Given the description of an element on the screen output the (x, y) to click on. 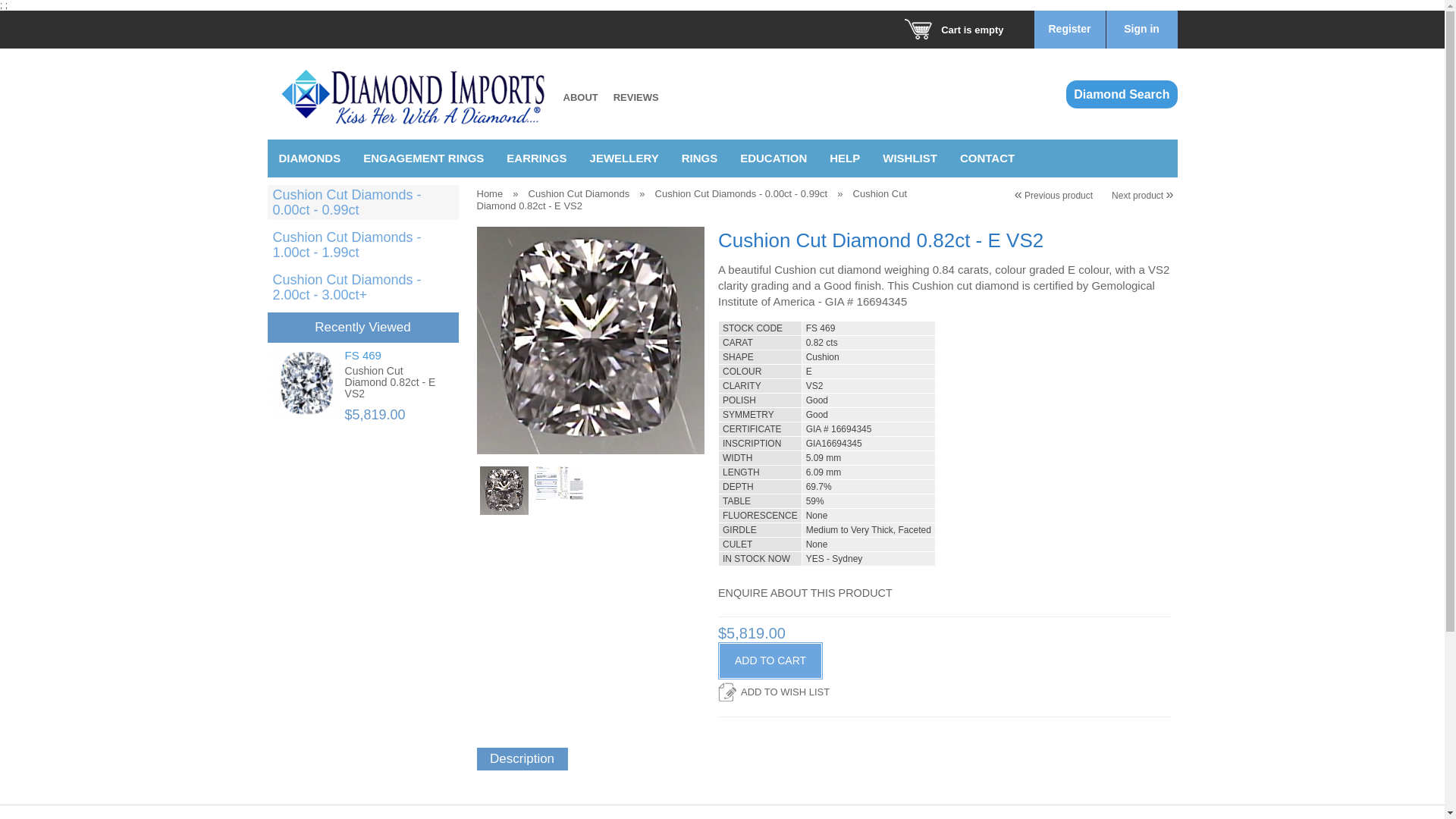
Cushion Cut Diamonds - 0.00ct - 0.99ct Element type: text (347, 202)
JEWELLERY Element type: text (624, 158)
ENGAGEMENT RINGS Element type: text (423, 158)
ADD TO WISH LIST Element type: text (773, 691)
Cushion Cut Diamond 0.82ct E VS2 Element type: hover (503, 490)
HELP Element type: text (844, 158)
Cushion Cut Diamonds - 2.00ct - 3.00ct+ Element type: text (347, 287)
Cushion Cut Diamond 0.82ct E VS2 Element type: hover (557, 482)
ENQUIRE ABOUT THIS PRODUCT Element type: text (805, 601)
WISHLIST Element type: text (909, 158)
Cushion Cut Diamonds - 0.00ct - 0.99ct Element type: text (741, 193)
Cushion Cut Diamonds Element type: text (579, 193)
RINGS Element type: text (699, 158)
ADD TO CART Element type: text (770, 660)
Cushion Cut Diamond 0.82ct - E VS2 Element type: hover (305, 383)
Cushion Cut Diamond 0.82ct E VS2 Element type: hover (557, 492)
ABOUT Element type: text (580, 98)
EARRINGS Element type: text (536, 158)
EDUCATION Element type: text (773, 158)
CONTACT Element type: text (987, 158)
Cushion Cut Diamond 0.82ct - E VS2 Element type: text (390, 381)
Sign in Element type: text (1141, 28)
REVIEWS Element type: text (635, 98)
Cushion Cut Diamond 0.82ct E VS2 Element type: hover (503, 492)
Home Element type: text (489, 193)
Cushion Cut Diamonds - 1.00ct - 1.99ct Element type: text (347, 244)
DIAMONDS Element type: text (308, 158)
Cushion Cut Diamond 0.82ct - E VS2 Element type: hover (589, 340)
Register Element type: text (1069, 28)
